Given the description of an element on the screen output the (x, y) to click on. 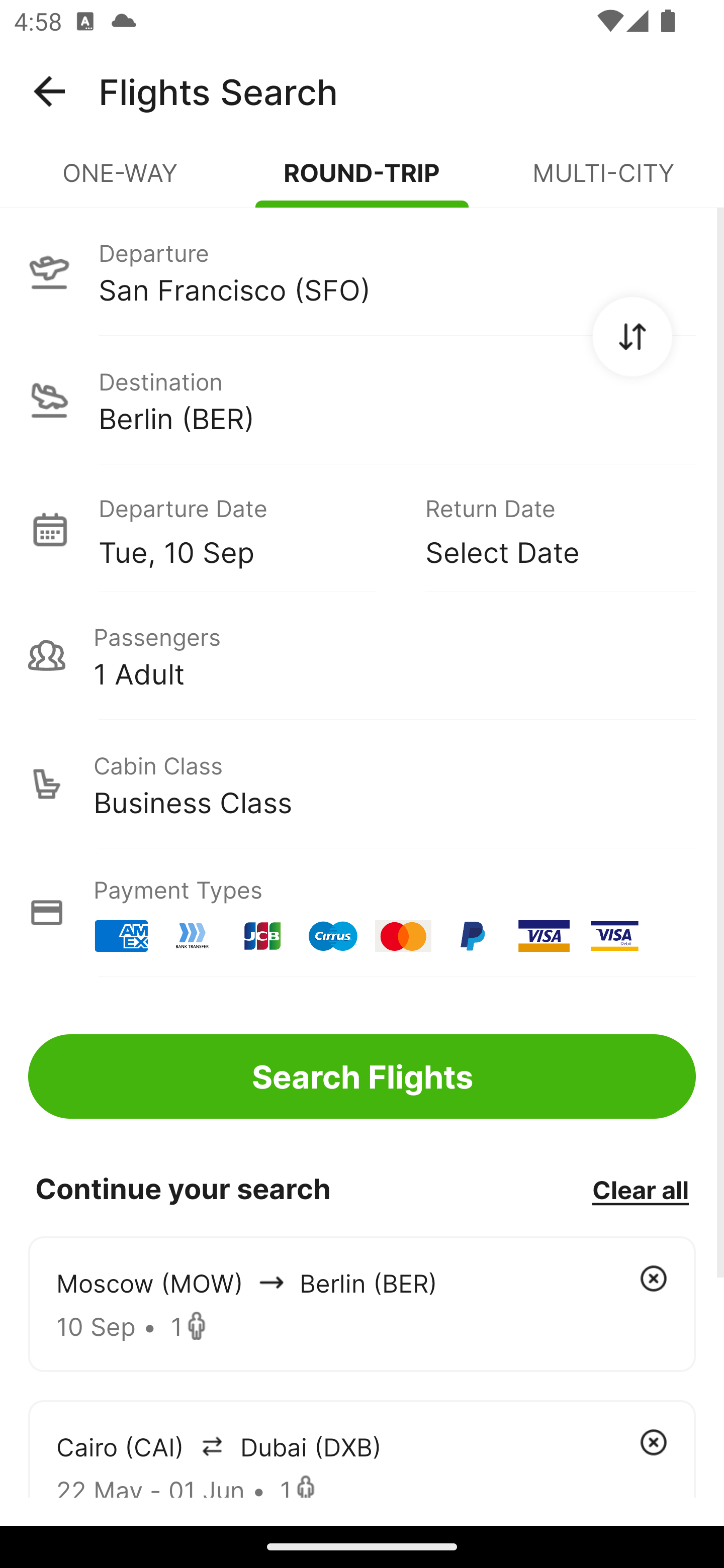
ONE-WAY (120, 180)
ROUND-TRIP (361, 180)
MULTI-CITY (603, 180)
Departure San Francisco (SFO) (362, 270)
Destination Berlin (BER) (362, 400)
Departure Date Tue, 10 Sep (247, 528)
Return Date Select Date (546, 528)
Passengers 1 Adult (362, 655)
Cabin Class Business Class (362, 783)
Payment Types (362, 912)
Search Flights (361, 1075)
Clear all (640, 1189)
Moscow (MOW)  arrowIcon  Berlin (BER) 10 Sep •  1  (361, 1303)
